Given the description of an element on the screen output the (x, y) to click on. 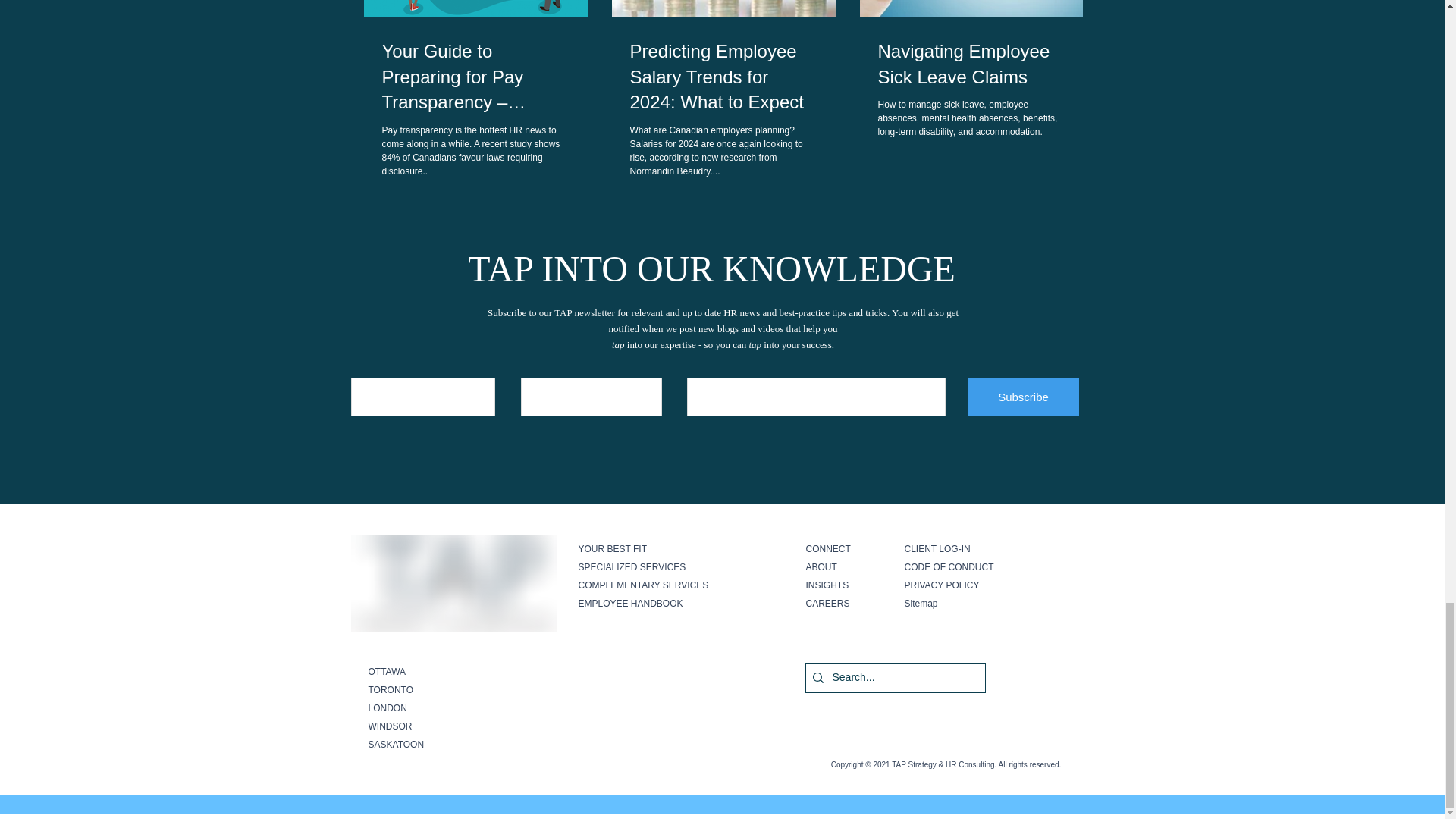
WINDSOR (390, 726)
Sitemap (920, 603)
Navigating Employee Sick Leave Claims (970, 63)
CAREERS (826, 603)
ABOUT (820, 566)
YOUR BEST FIT (612, 548)
LONDON (387, 707)
INSIGHTS (826, 584)
COMPLEMENTARY SERVICES (642, 584)
SPECIALIZED SERVICES (631, 566)
OTTAWA (387, 671)
CODE OF CONDUCT (948, 566)
SASKATOON (396, 744)
TORONTO (390, 689)
CLIENT LOG-IN (936, 548)
